Given the description of an element on the screen output the (x, y) to click on. 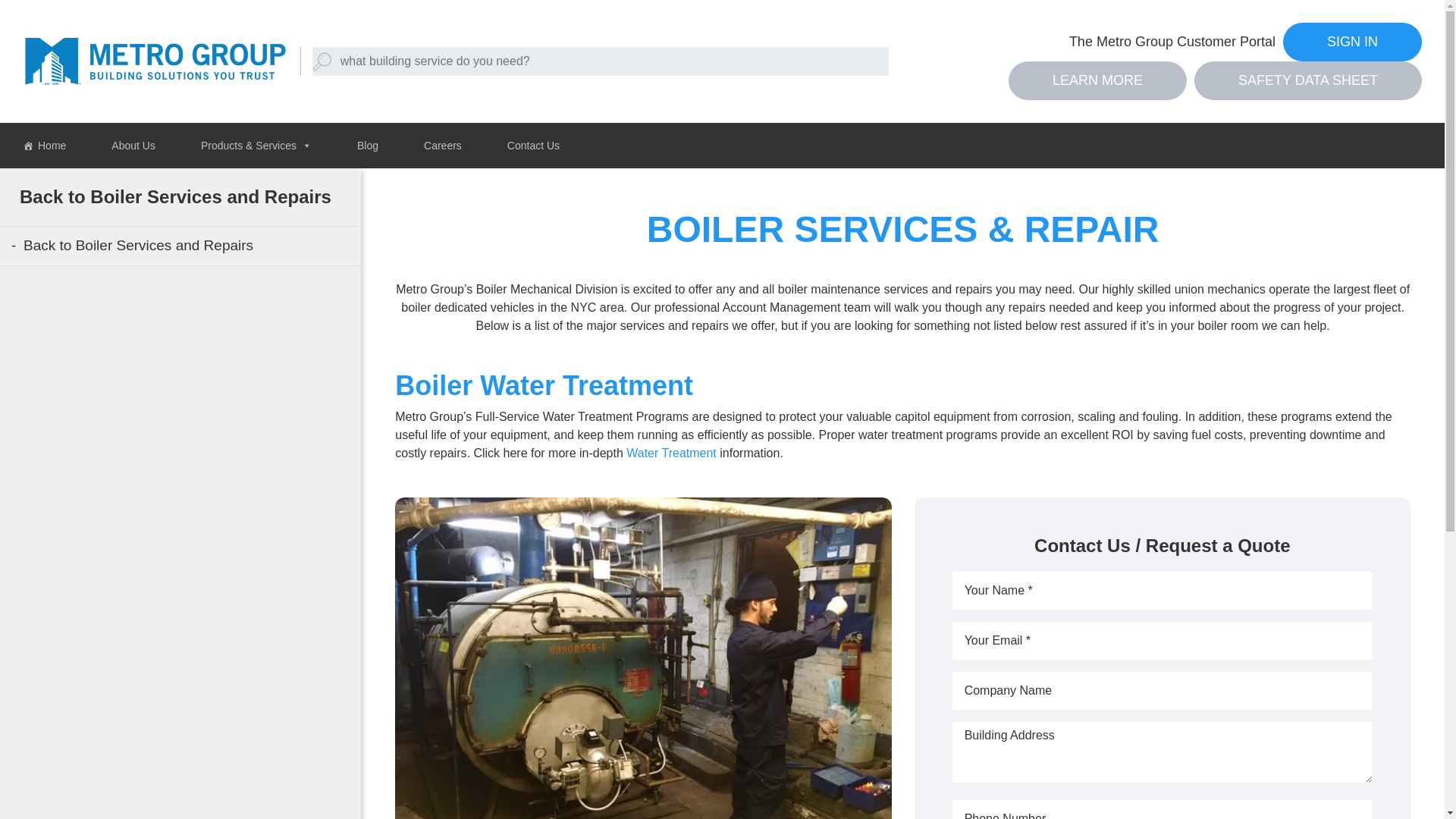
LEARN MORE (1097, 80)
The Metro Group Customer Portal (1171, 41)
sign in (1352, 41)
SAFETY DATA SHEET (1307, 80)
Home (44, 145)
Learn More (1097, 80)
The Metro Group Customer Portal (1171, 41)
Get Solutions (53, 28)
Safety Data Sheet (1307, 80)
About Us (132, 145)
SIGN IN (1352, 41)
